Given the description of an element on the screen output the (x, y) to click on. 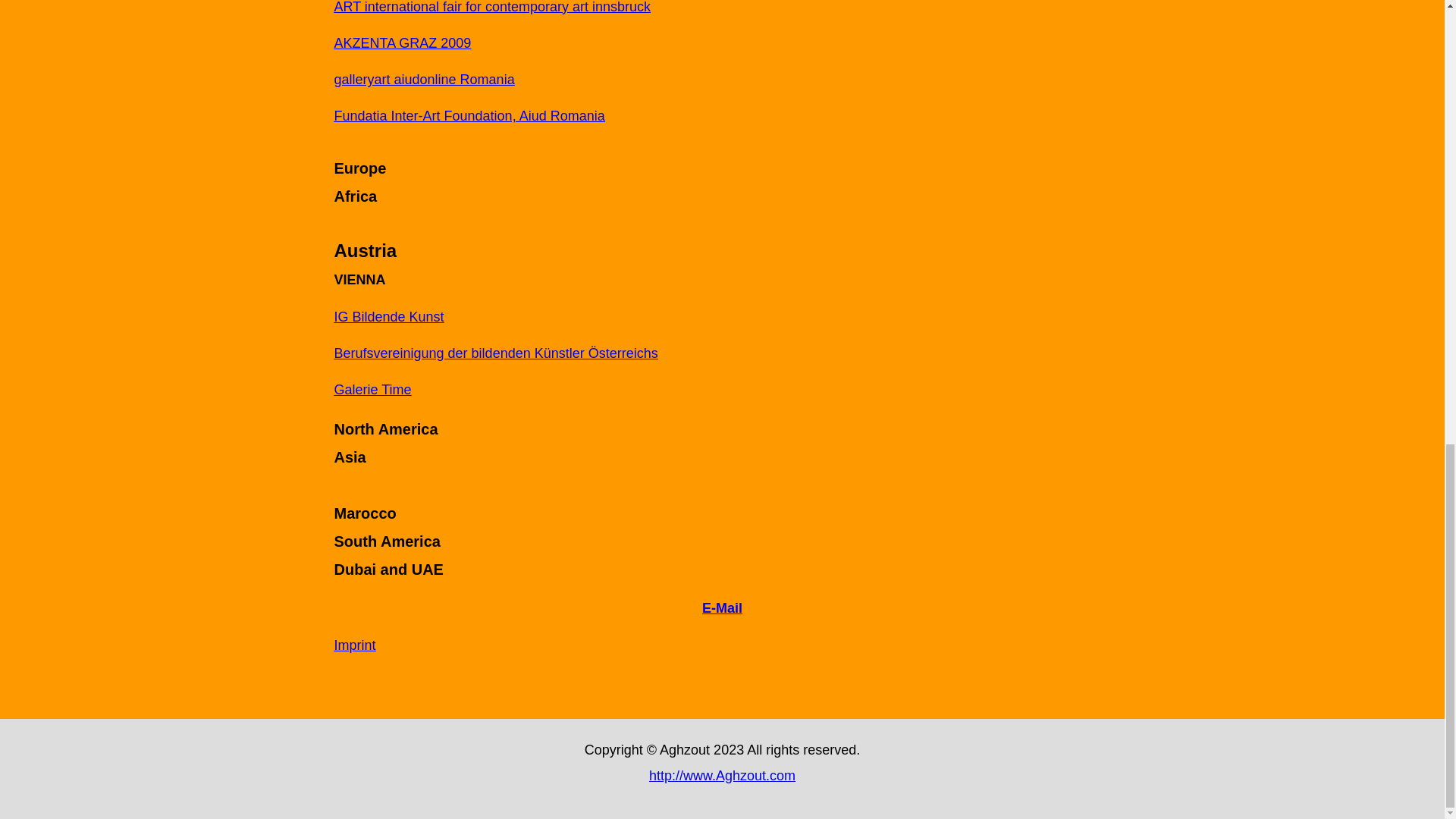
Imprint (354, 645)
E-Mail (721, 607)
AKZENTA GRAZ 2009 (401, 43)
Galerie Time (371, 389)
IG Bildende Kunst (388, 316)
ART international fair for contemporary art innsbruck (491, 7)
Fundatia Inter-Art Foundation, Aiud Romania (468, 115)
galleryart aiudonline Romania (423, 79)
